Given the description of an element on the screen output the (x, y) to click on. 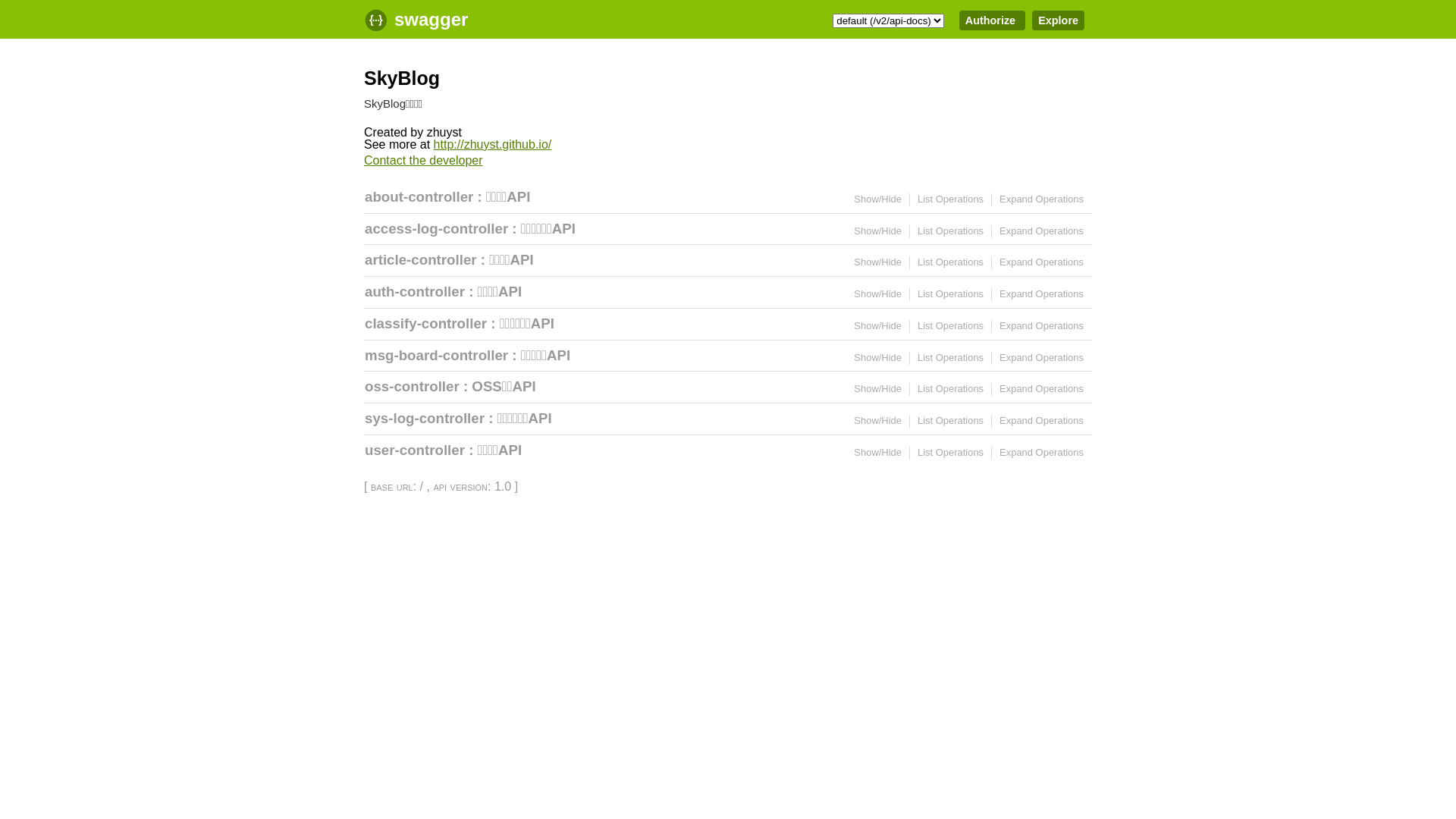
Show/Hide Element type: text (877, 325)
article-controller Element type: text (420, 259)
Expand Operations Element type: text (1041, 230)
access-log-controller Element type: text (436, 228)
List Operations Element type: text (950, 261)
Expand Operations Element type: text (1041, 357)
Contact the developer Element type: text (423, 159)
Expand Operations Element type: text (1041, 452)
Expand Operations Element type: text (1041, 420)
auth-controller Element type: text (414, 291)
List Operations Element type: text (950, 357)
sys-log-controller Element type: text (424, 418)
Show/Hide Element type: text (877, 293)
Show/Hide Element type: text (877, 388)
Expand Operations Element type: text (1041, 261)
Expand Operations Element type: text (1041, 325)
user-controller Element type: text (414, 450)
List Operations Element type: text (950, 388)
Expand Operations Element type: text (1041, 388)
swagger Element type: text (426, 19)
List Operations Element type: text (950, 293)
List Operations Element type: text (950, 230)
Authorize Element type: text (992, 20)
classify-controller Element type: text (425, 323)
about-controller Element type: text (418, 196)
List Operations Element type: text (950, 452)
Show/Hide Element type: text (877, 198)
Show/Hide Element type: text (877, 261)
Expand Operations Element type: text (1041, 293)
List Operations Element type: text (950, 420)
oss-controller Element type: text (411, 386)
Expand Operations Element type: text (1041, 198)
List Operations Element type: text (950, 325)
msg-board-controller Element type: text (436, 355)
List Operations Element type: text (950, 198)
Explore Element type: text (1058, 20)
Show/Hide Element type: text (877, 452)
Show/Hide Element type: text (877, 230)
Show/Hide Element type: text (877, 357)
http://zhuyst.github.io/ Element type: text (492, 144)
Show/Hide Element type: text (877, 420)
